Given the description of an element on the screen output the (x, y) to click on. 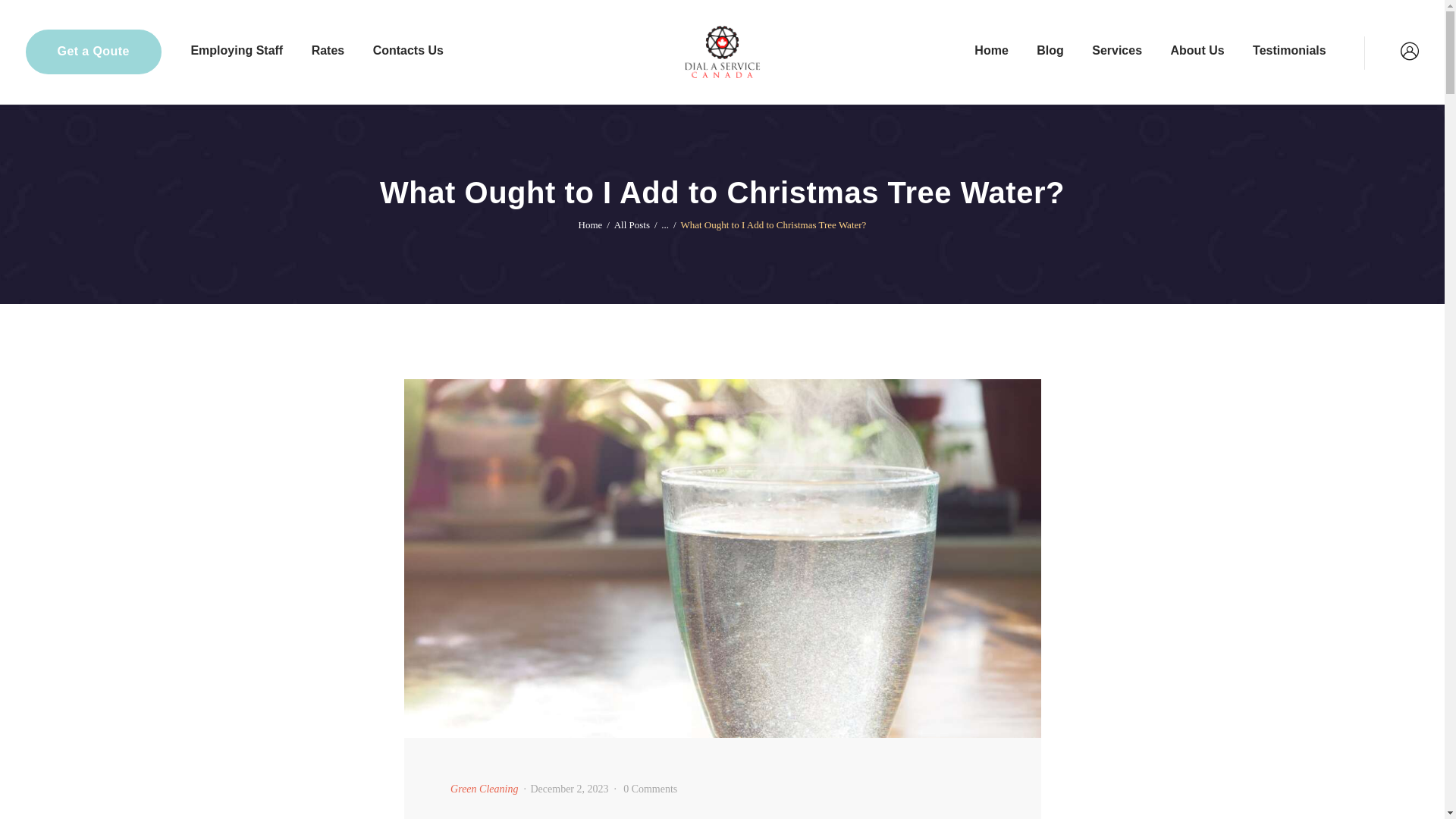
December 2, 2023 (569, 788)
Green Cleaning (483, 788)
Get a Qoute (93, 51)
Testimonials (1289, 51)
Home (990, 51)
0Comments (649, 788)
Rates (328, 51)
Services (1116, 51)
About Us (1197, 51)
Contacts Us (408, 51)
